Given the description of an element on the screen output the (x, y) to click on. 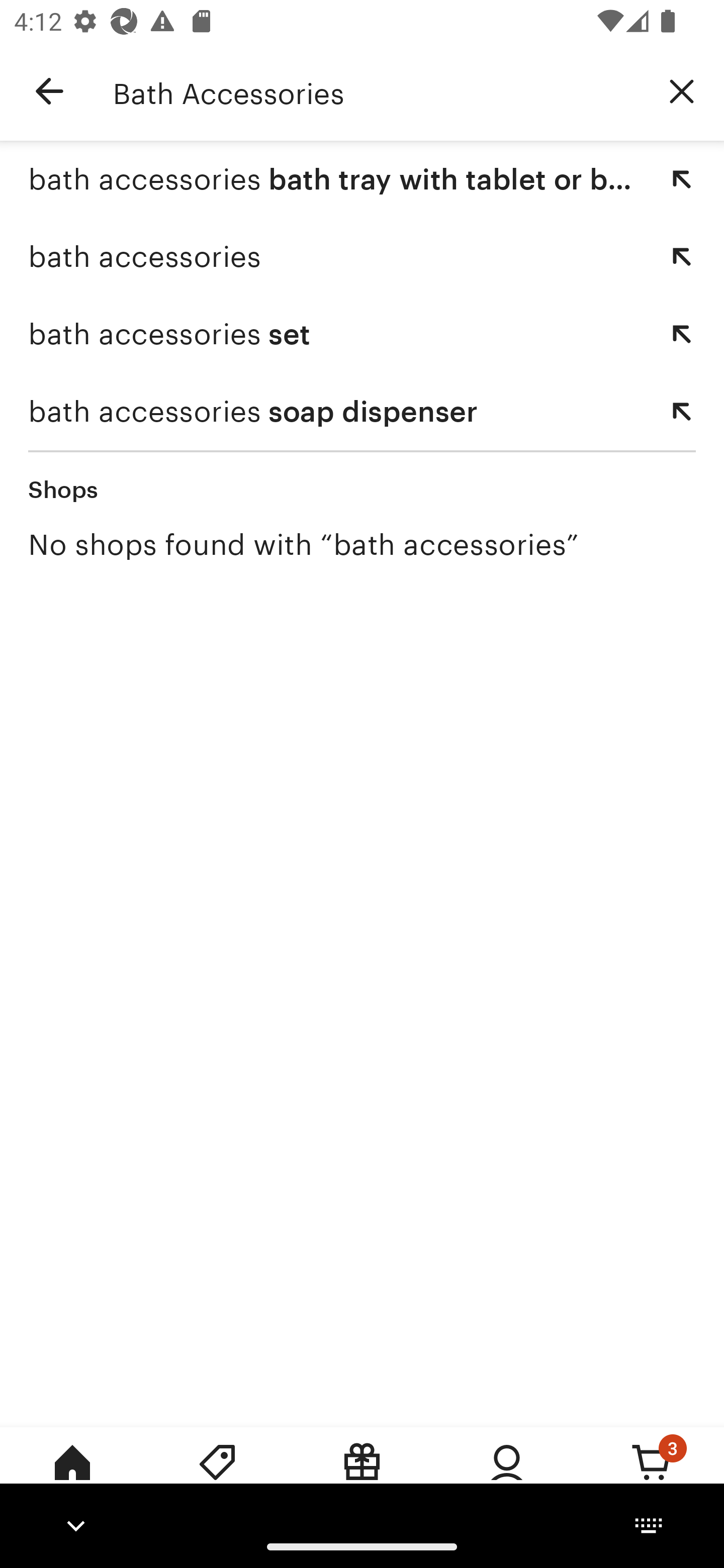
Navigate up (49, 91)
Clear query (681, 90)
Bath Accessories (375, 91)
Deals (216, 1475)
Gift Mode (361, 1475)
You (506, 1475)
Cart, 3 new notifications (651, 1475)
